Given the description of an element on the screen output the (x, y) to click on. 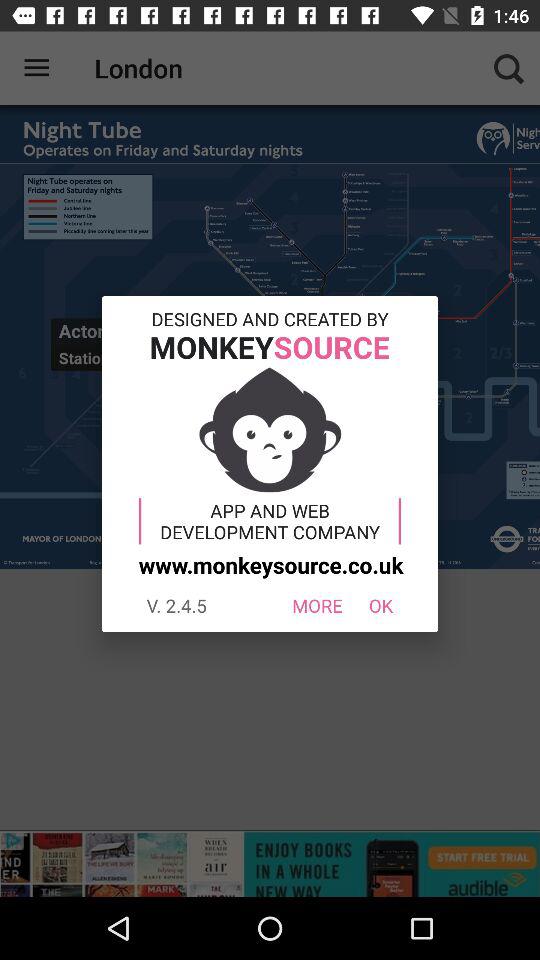
select the more icon (316, 605)
